Given the description of an element on the screen output the (x, y) to click on. 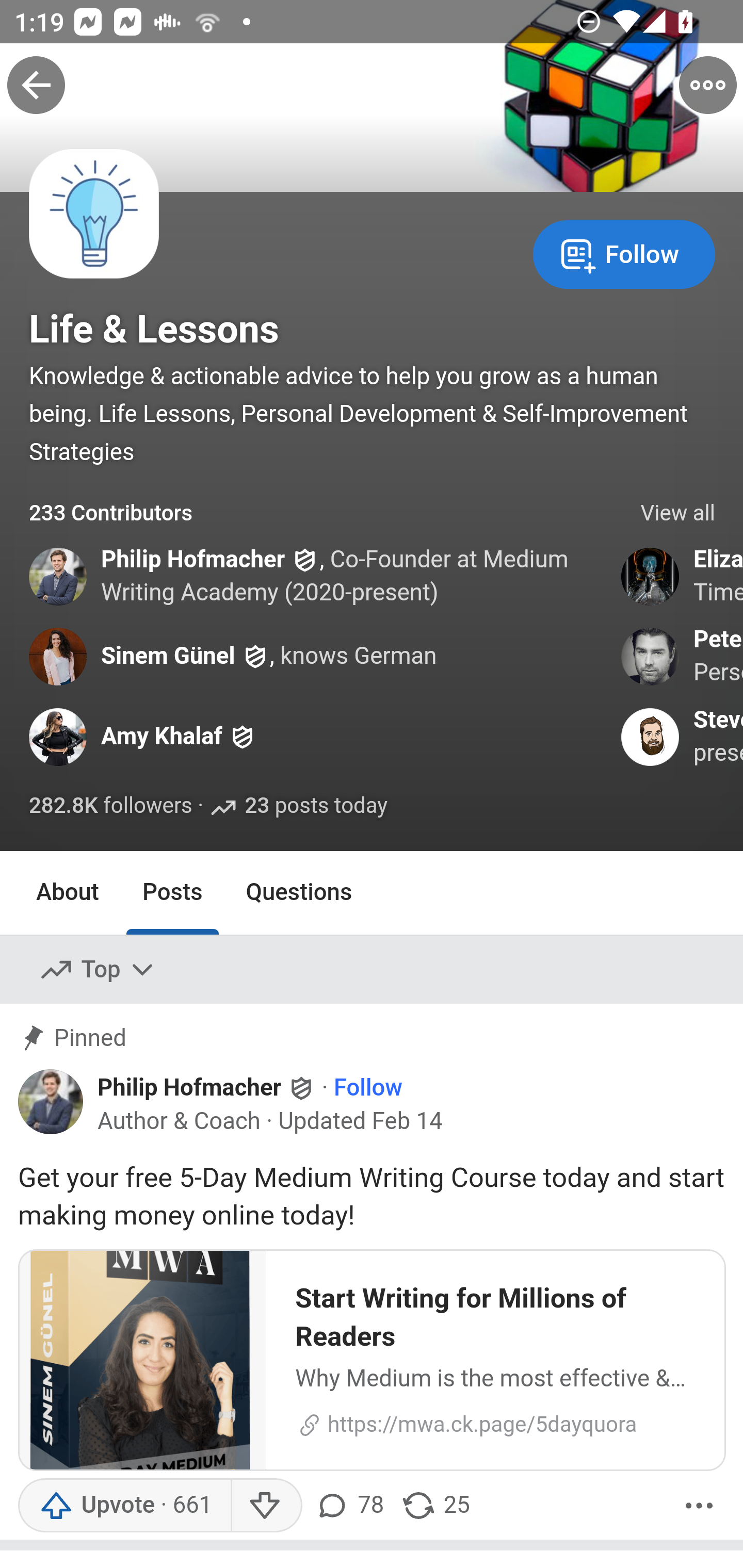
Follow (623, 252)
Life & Lessons (153, 329)
View all (677, 513)
Philip Hofmacher (193, 559)
Profile photo for Philip Hofmacher (58, 576)
Profile photo for Elizabeth York (650, 576)
Profile photo for Sinem Günel (58, 655)
Profile photo for Peter Mayer (650, 655)
Sinem Günel (168, 655)
Profile photo for Amy Khalaf (58, 736)
Profile photo for Steve Dani (650, 736)
Amy Khalaf (162, 736)
282.8K followers (110, 806)
About (68, 891)
Posts (171, 891)
Questions (299, 891)
Top (97, 970)
Profile photo for Philip Hofmacher (50, 1102)
Philip Hofmacher Philip Hofmacher   (207, 1087)
Follow (368, 1087)
Updated Feb 14 Updated  Feb 14 (360, 1121)
Upvote (124, 1506)
Downvote (266, 1506)
78 comments (349, 1506)
25 shares (434, 1506)
More (699, 1506)
